Given the description of an element on the screen output the (x, y) to click on. 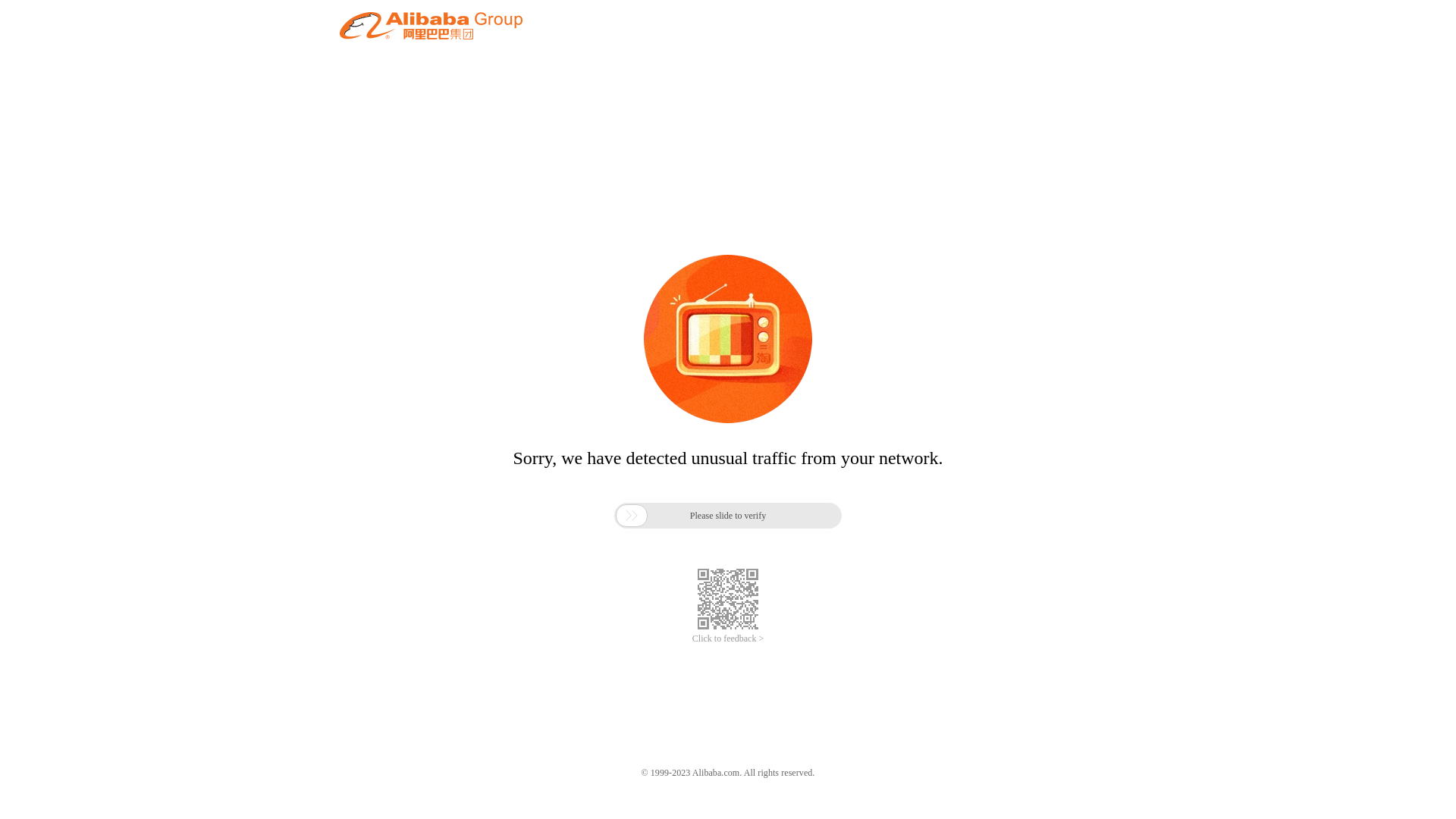
Click to feedback > Element type: text (727, 638)
